Given the description of an element on the screen output the (x, y) to click on. 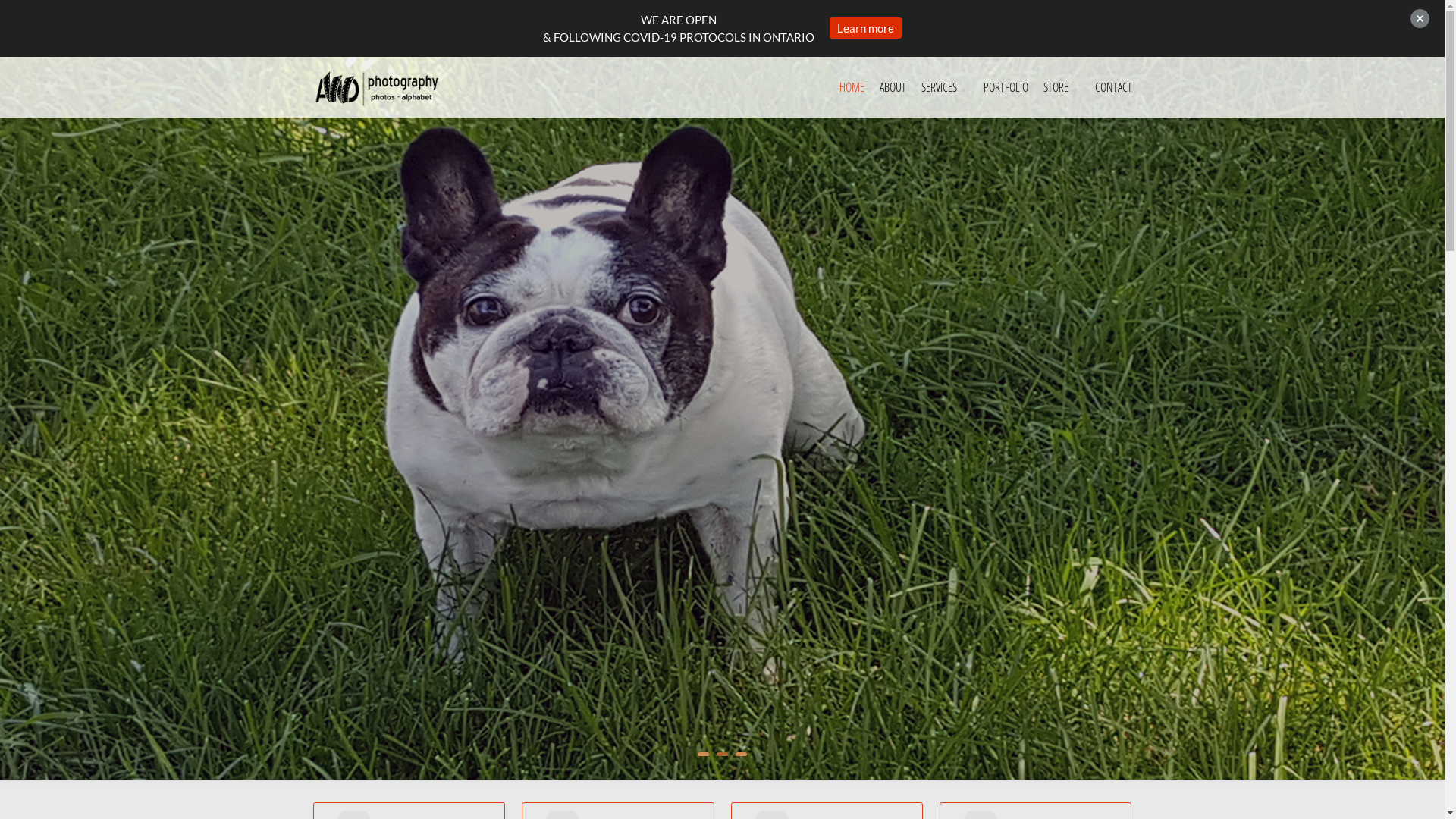
Skip to content Element type: text (0, 56)
Learn more Element type: text (865, 27)
SERVICES Element type: text (943, 86)
PORTFOLIO Element type: text (1004, 86)
CONTACT Element type: text (1113, 86)
1 Element type: text (703, 754)
2 Element type: text (722, 754)
HOME Element type: text (850, 86)
ABOUT Element type: text (892, 86)
3 Element type: text (740, 754)
STORE Element type: text (1061, 86)
